Given the description of an element on the screen output the (x, y) to click on. 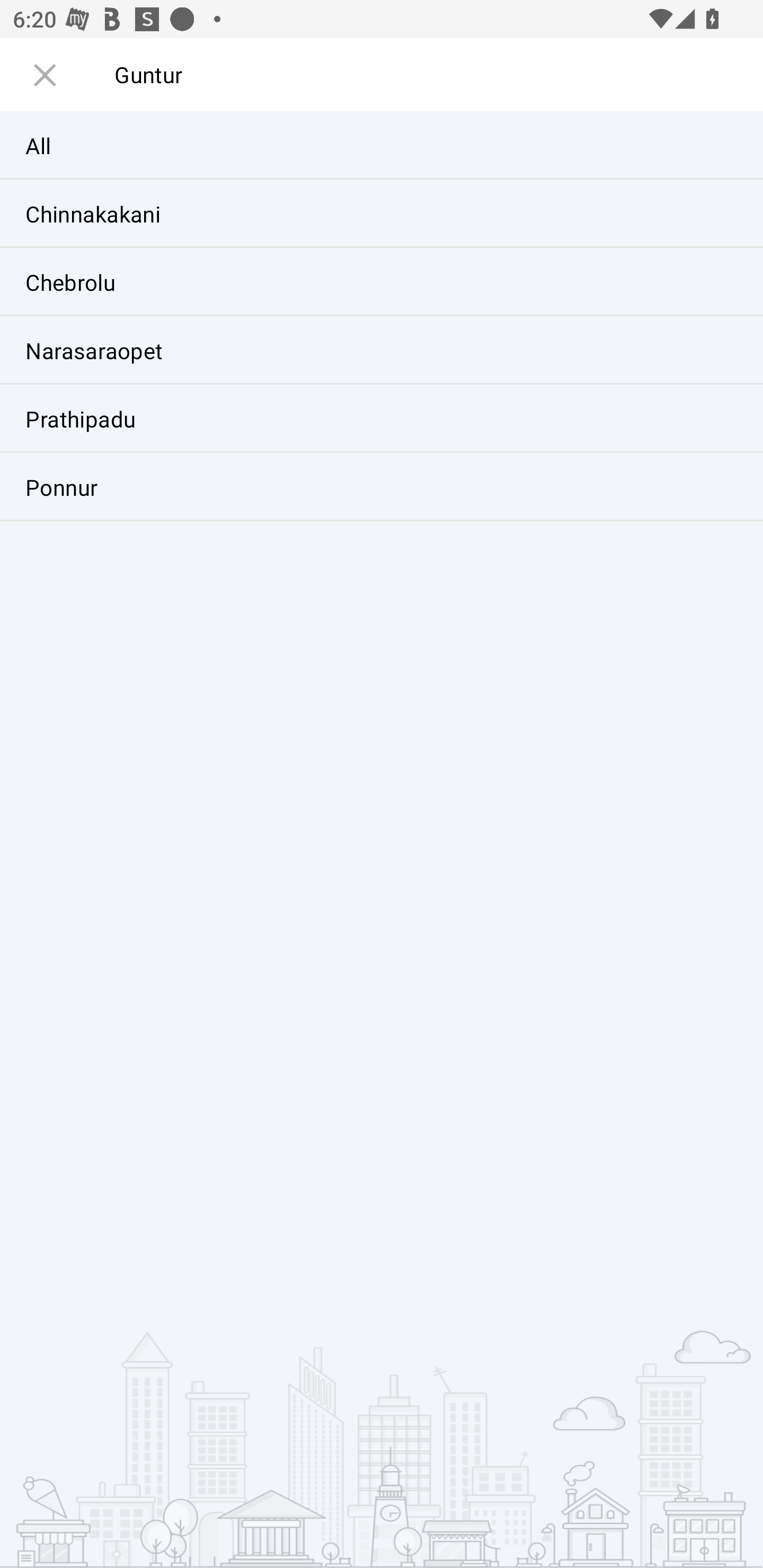
Back (44, 82)
All (381, 145)
Chinnakakani (381, 213)
Chebrolu (381, 281)
Narasaraopet (381, 350)
Prathipadu (381, 418)
Ponnur (381, 486)
